Given the description of an element on the screen output the (x, y) to click on. 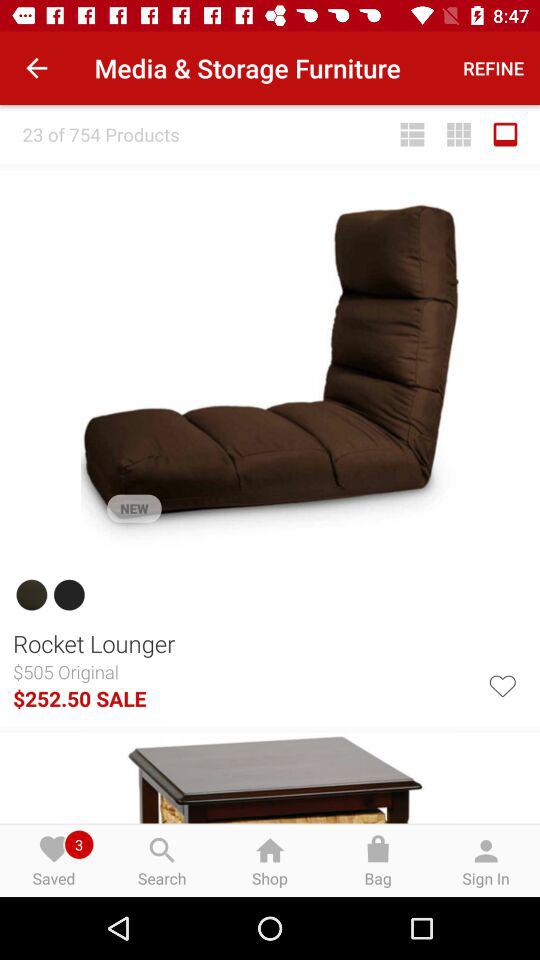
add to favorites (501, 683)
